Given the description of an element on the screen output the (x, y) to click on. 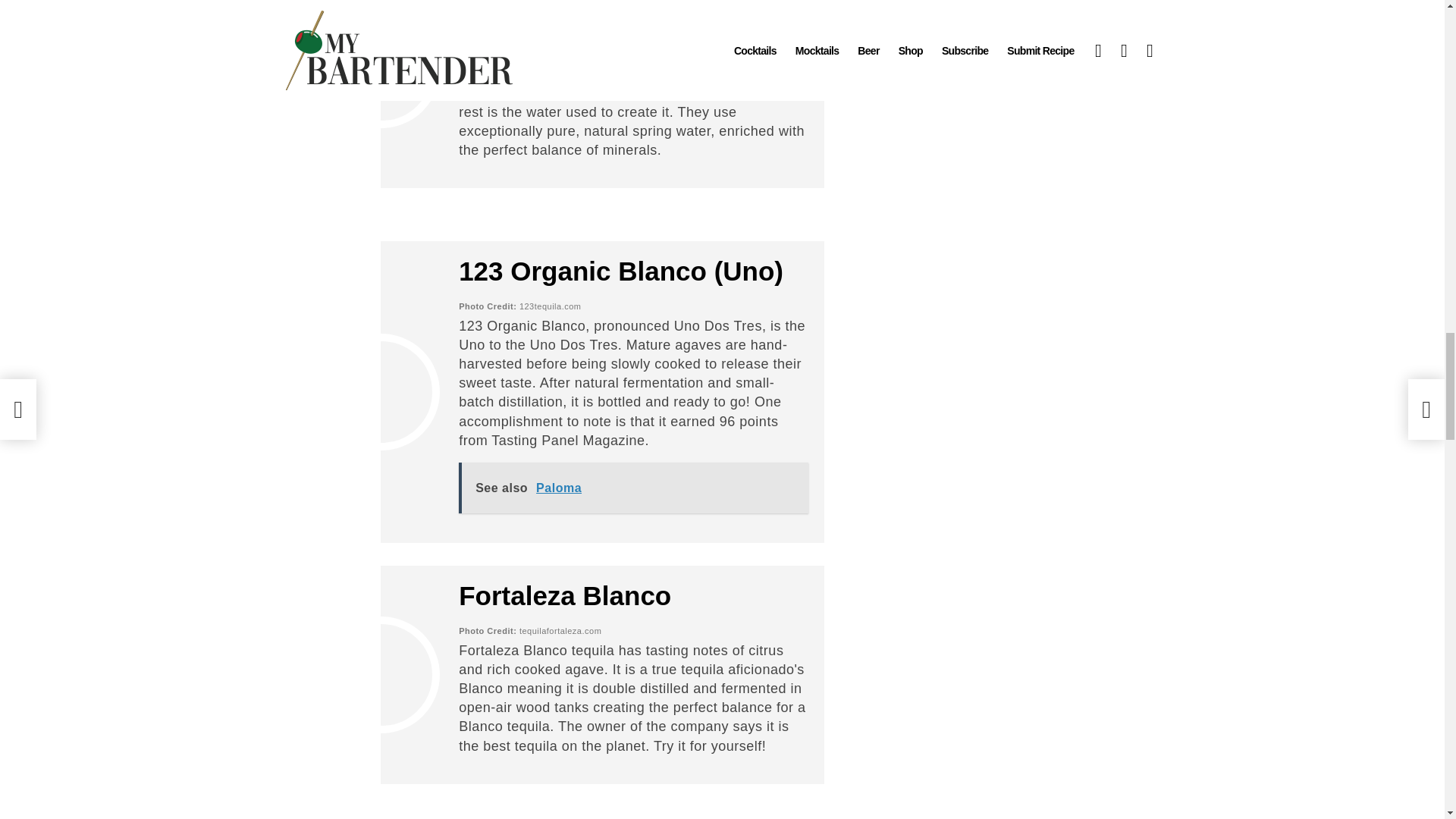
10 Must-Try Blanco Tequilas 7 (381, 69)
10 Must-Try Blanco Tequilas 9 (381, 674)
10 Must-Try Blanco Tequilas 8 (381, 392)
